Given the description of an element on the screen output the (x, y) to click on. 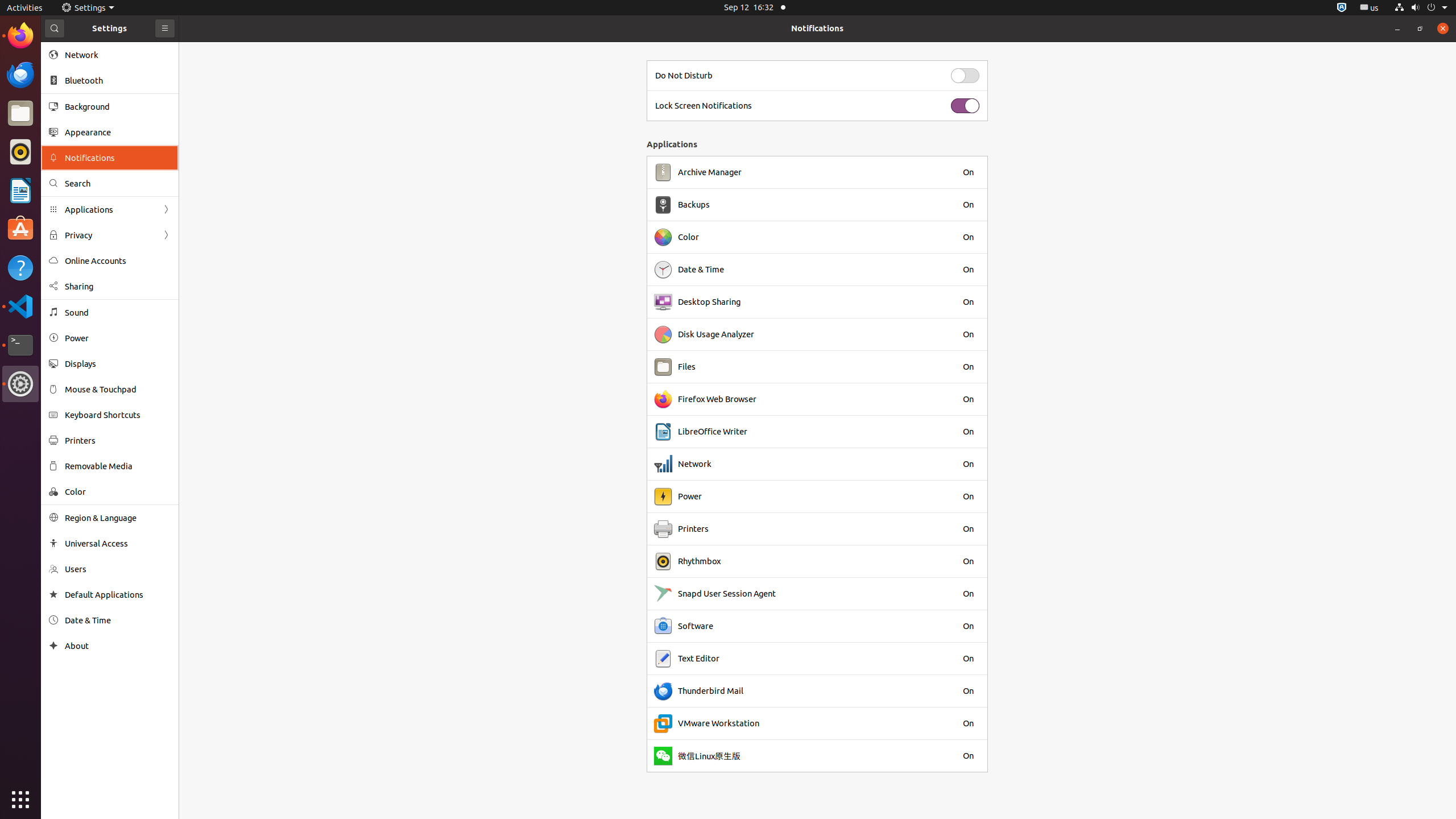
Lock Screen Notifications Element type: label (703, 105)
Firefox Web Browser Element type: label (716, 399)
Primary Menu Element type: toggle-button (164, 28)
Sharing Element type: label (117, 286)
